Given the description of an element on the screen output the (x, y) to click on. 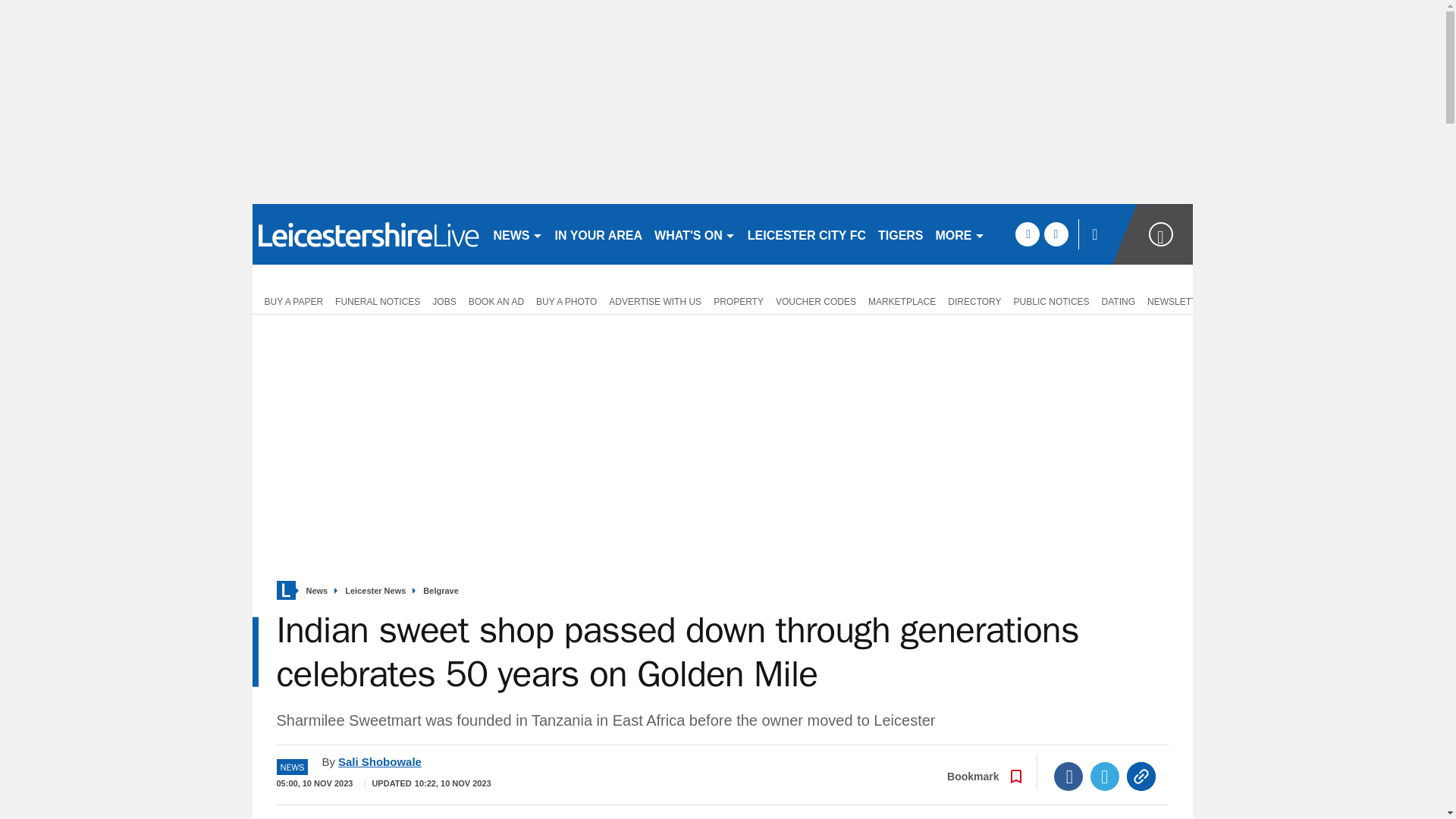
facebook (1026, 233)
Twitter (1104, 776)
WHAT'S ON (694, 233)
leicestermercury (365, 233)
IN YOUR AREA (598, 233)
MORE (960, 233)
TIGERS (901, 233)
twitter (1055, 233)
NEWS (517, 233)
LEICESTER CITY FC (806, 233)
